Given the description of an element on the screen output the (x, y) to click on. 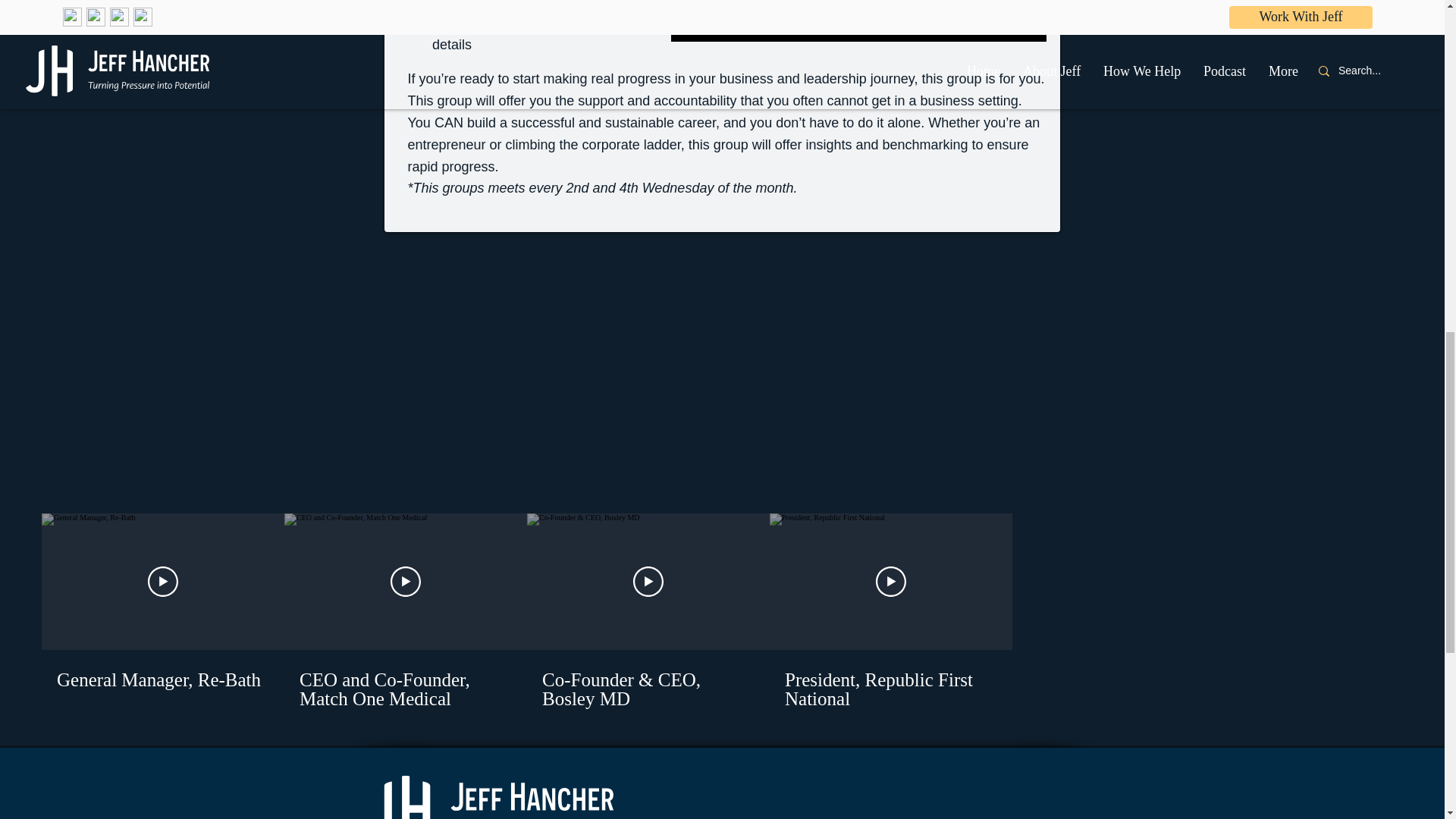
General Manager, Re-Bath (162, 679)
President, Republic First National (890, 680)
CEO and Co-Founder, Match One Medical (405, 689)
President, Republic First National (890, 689)
General Manager, Re-Bath (162, 670)
CEO and Co-Founder, Match One Medical (405, 680)
